Given the description of an element on the screen output the (x, y) to click on. 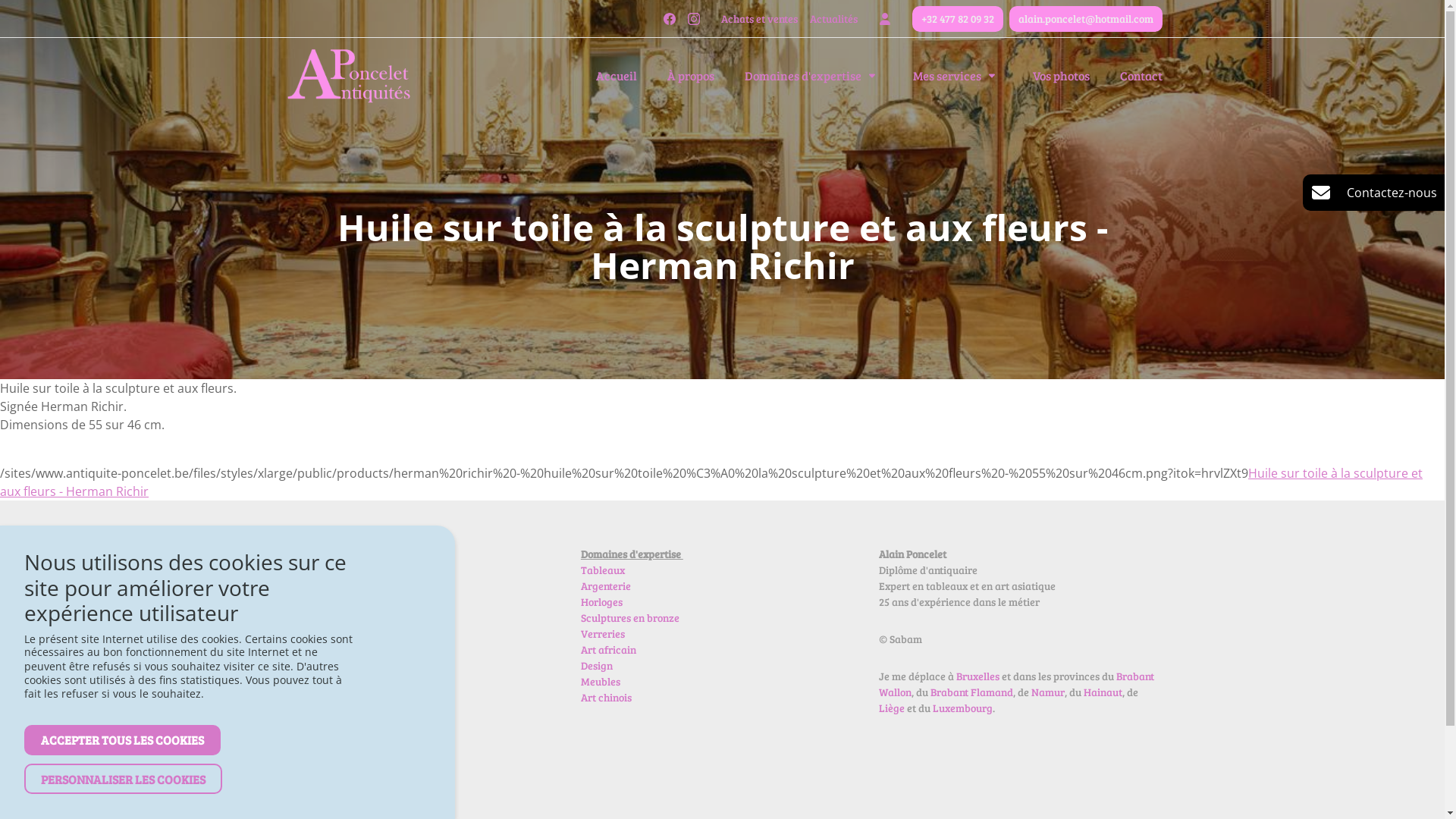
Verreries Element type: text (602, 633)
Luxembourg Element type: text (962, 707)
Horloges Element type: text (601, 601)
ACCEPTER TOUS LES COOKIES Element type: text (122, 739)
Accueil Element type: text (616, 75)
Art chinois Element type: text (605, 697)
alain.poncelet@hotmail.com Element type: text (377, 755)
Toggle Dropdown Element type: text (871, 75)
Achats et ventes Element type: text (758, 18)
Mes services Element type: text (947, 75)
Design Element type: text (596, 665)
Domaines d'expertise Element type: text (802, 75)
Bruxelles Element type: text (978, 675)
Toggle Dropdown Element type: text (991, 75)
Argenterie Element type: text (605, 585)
Hainaut Element type: text (1102, 691)
Contactez-nous Element type: text (1373, 192)
alain.poncelet@hotmail.com Element type: text (1084, 18)
PERSONNALISER LES COOKIES Element type: text (123, 779)
Art africain Element type: text (608, 649)
+32 477 820 932 Element type: text (342, 739)
Sculptures en bronze Element type: text (629, 617)
Contact Element type: text (1140, 75)
Compte Element type: text (884, 18)
Namur Element type: text (1047, 691)
Vos photos Element type: text (1060, 75)
Meubles Element type: text (600, 681)
Brabant Wallon Element type: text (1016, 683)
Brabant Flamand Element type: text (971, 691)
RETIRER LE CONSENTEMENT Element type: text (18, 719)
+32 477 82 09 32 Element type: text (956, 18)
Tableaux Element type: text (602, 569)
